Given the description of an element on the screen output the (x, y) to click on. 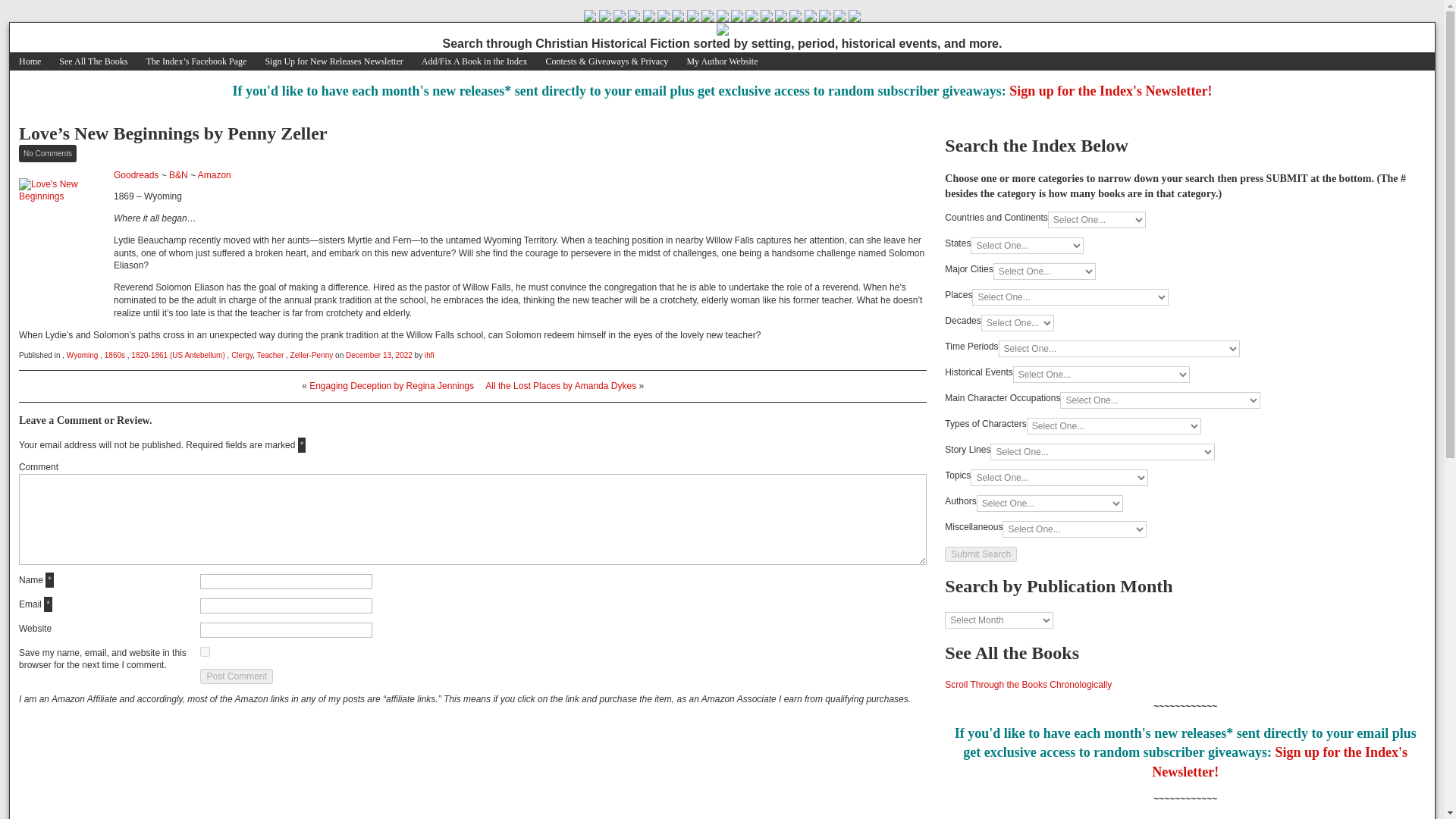
3:41 pm (379, 355)
My Author Website (722, 61)
yes (204, 651)
Sign Up for New Releases Newsletter (334, 61)
Sign up for the Index's Newsletter! (1110, 90)
Zeller-Penny (311, 355)
Home (29, 61)
Post Comment (236, 676)
December 13, 2022 (379, 355)
Submit Search (980, 554)
